Given the description of an element on the screen output the (x, y) to click on. 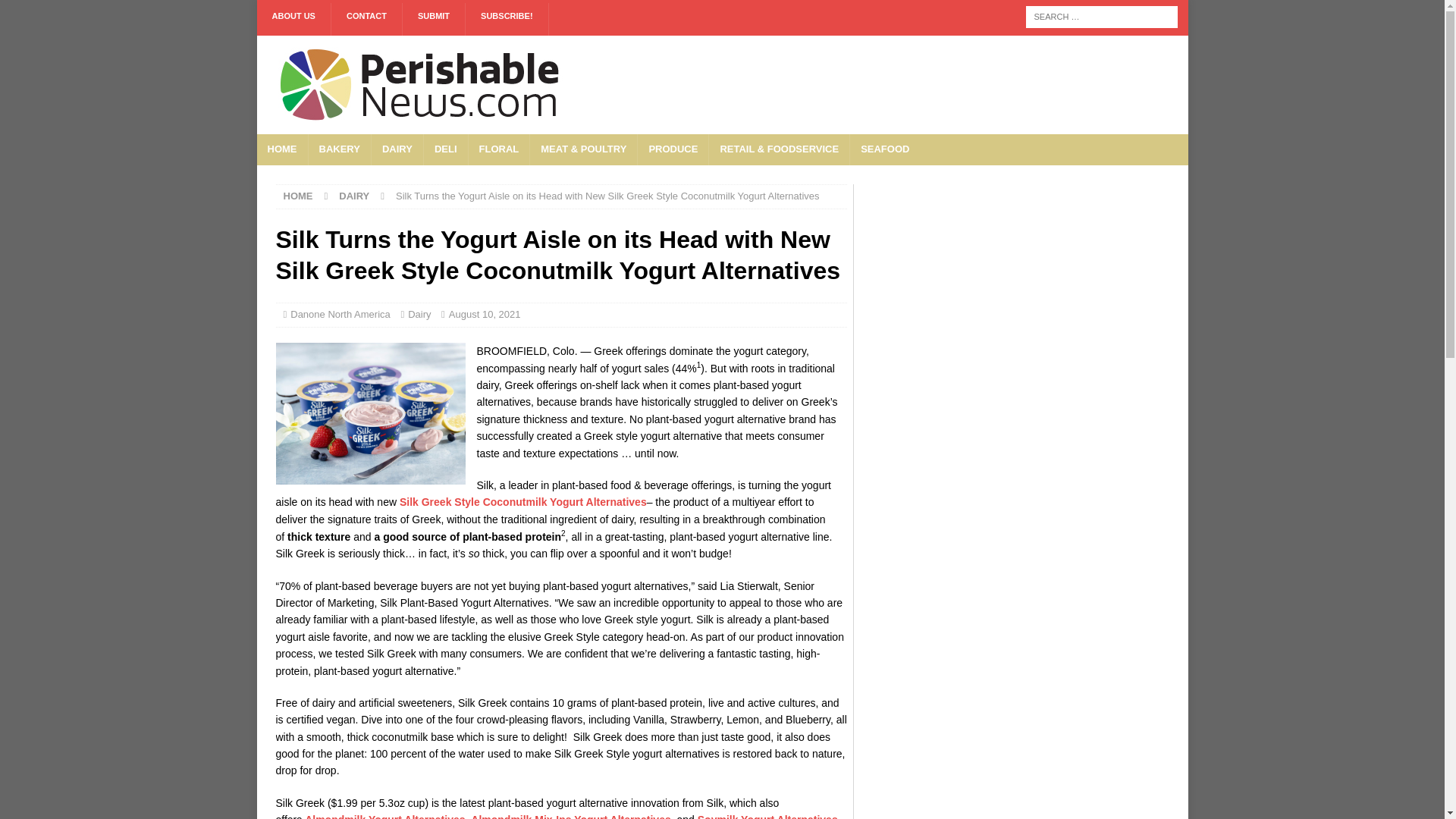
ABOUT US (293, 19)
Almondmilk Mix-Ins Yogurt Alternatives (569, 816)
Silk Greek Style Coconutmilk Yogurt Alternatives (522, 501)
Dairy (418, 314)
FLORAL (498, 149)
BAKERY (339, 149)
DAIRY (397, 149)
Danone North America (341, 314)
DAIRY (354, 195)
SUBMIT (434, 19)
